Given the description of an element on the screen output the (x, y) to click on. 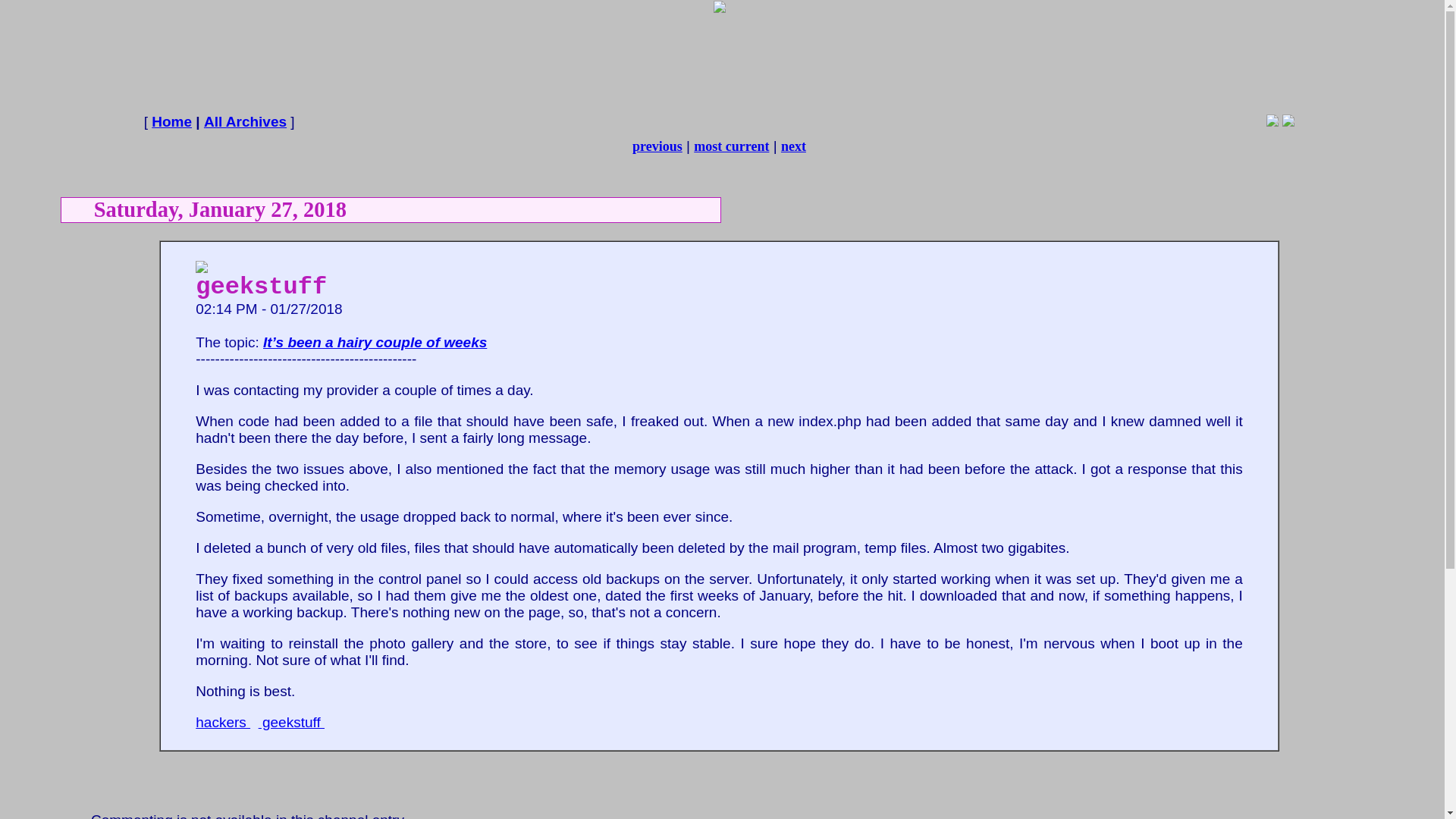
next (793, 145)
Home (171, 121)
most current (731, 145)
All Archives (244, 121)
geekstuff (291, 722)
previous (656, 145)
hackers (222, 722)
